Given the description of an element on the screen output the (x, y) to click on. 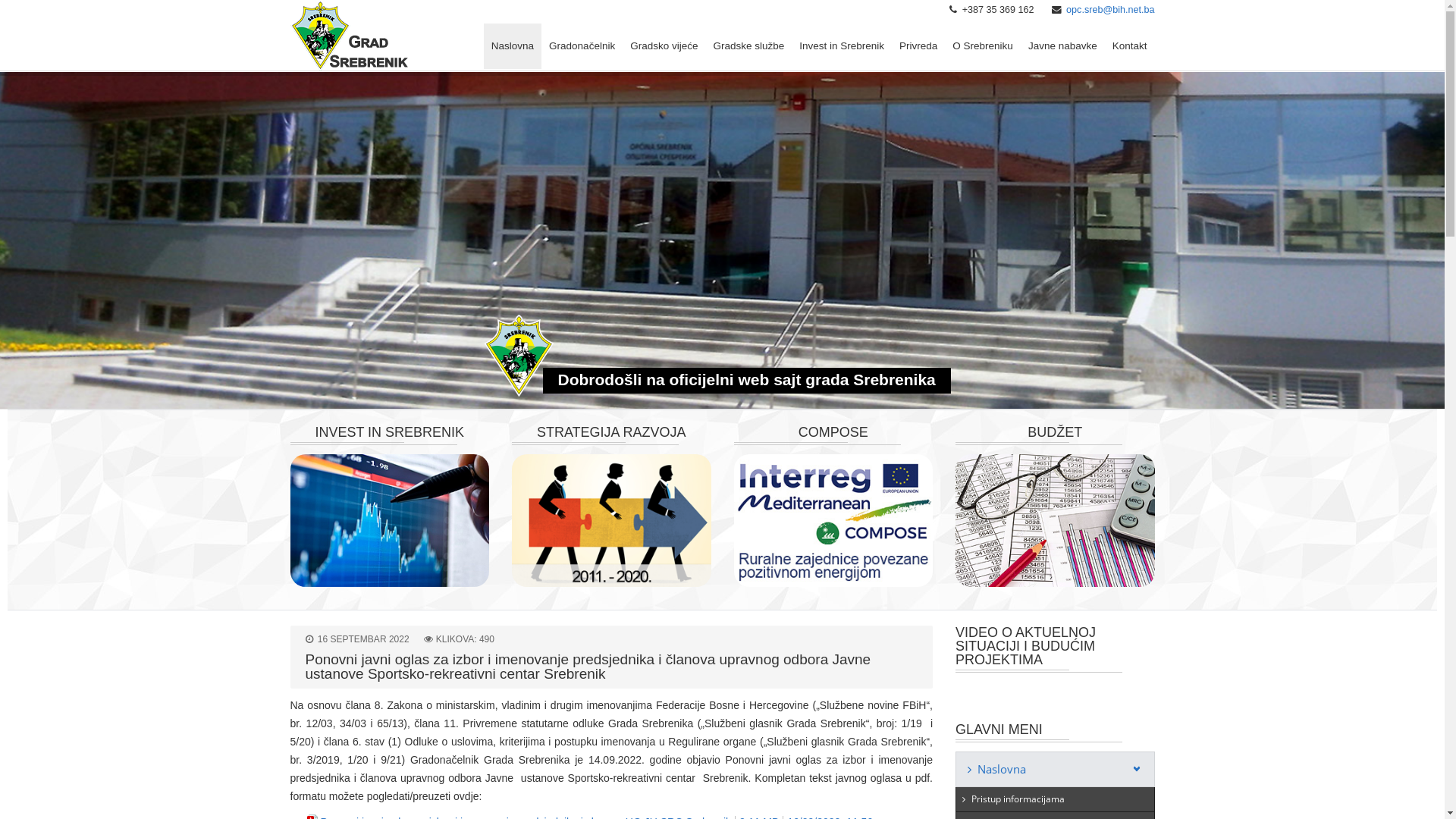
Pristup informacijama Element type: text (1054, 799)
Naslovna Element type: text (1054, 769)
Naslovna Element type: text (512, 46)
Kontakt Element type: text (1129, 46)
opc.sreb@bih.net.ba Element type: text (1110, 9)
Privreda Element type: text (917, 46)
Invest in Srebrenik Element type: text (841, 46)
Invest in Srebrenik - www.invest.srebrenik.ba Element type: hover (389, 520)
O Srebreniku Element type: text (982, 46)
Javne nabavke Element type: text (1062, 46)
COMPOSE - Ruralne zajednice povezane pozitivnom energijom Element type: hover (833, 520)
